Given the description of an element on the screen output the (x, y) to click on. 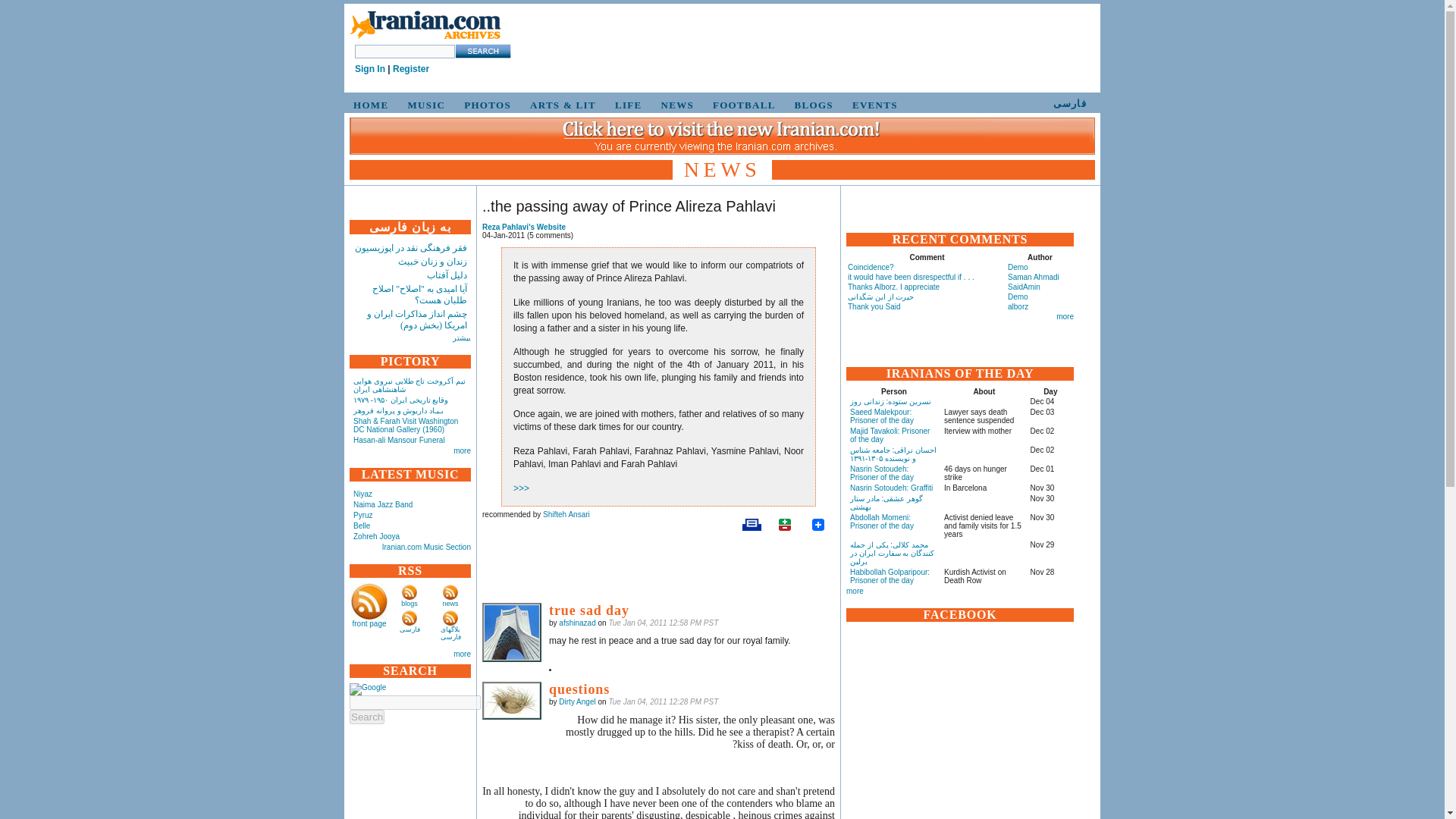
blogs (409, 603)
front page (368, 623)
Naima Jazz Band (382, 504)
LIFE (625, 105)
EVENTS (872, 105)
NEWS (674, 105)
Search (366, 716)
Google (367, 689)
Home (424, 40)
news (450, 603)
Iranian.com Music Section (425, 546)
afshinazad (511, 631)
more (461, 450)
Home (424, 25)
Register (411, 68)
